Given the description of an element on the screen output the (x, y) to click on. 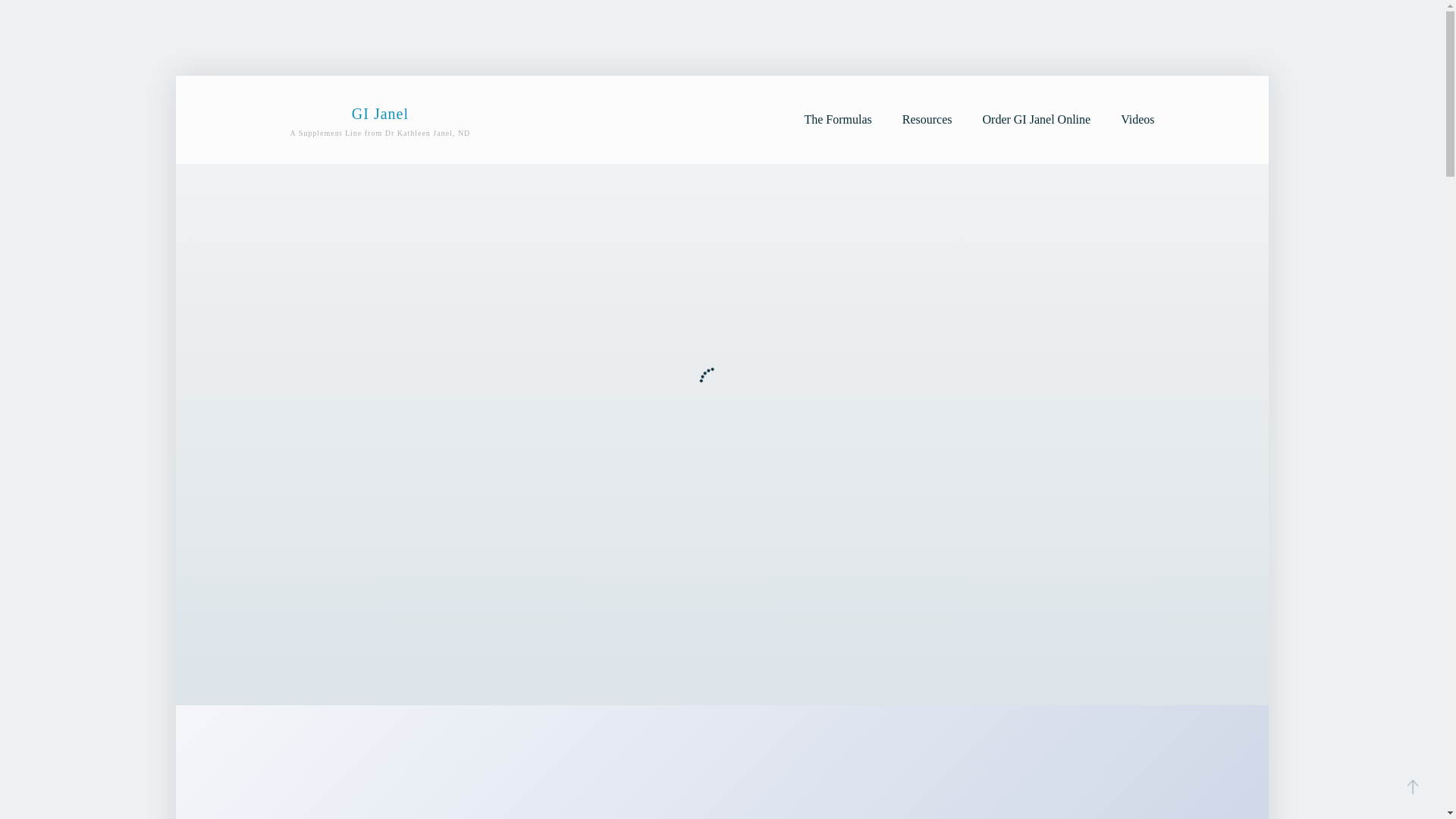
Resources (379, 119)
Videos (927, 119)
The Formulas (1137, 119)
Order GI Janel Online (836, 119)
